Given the description of an element on the screen output the (x, y) to click on. 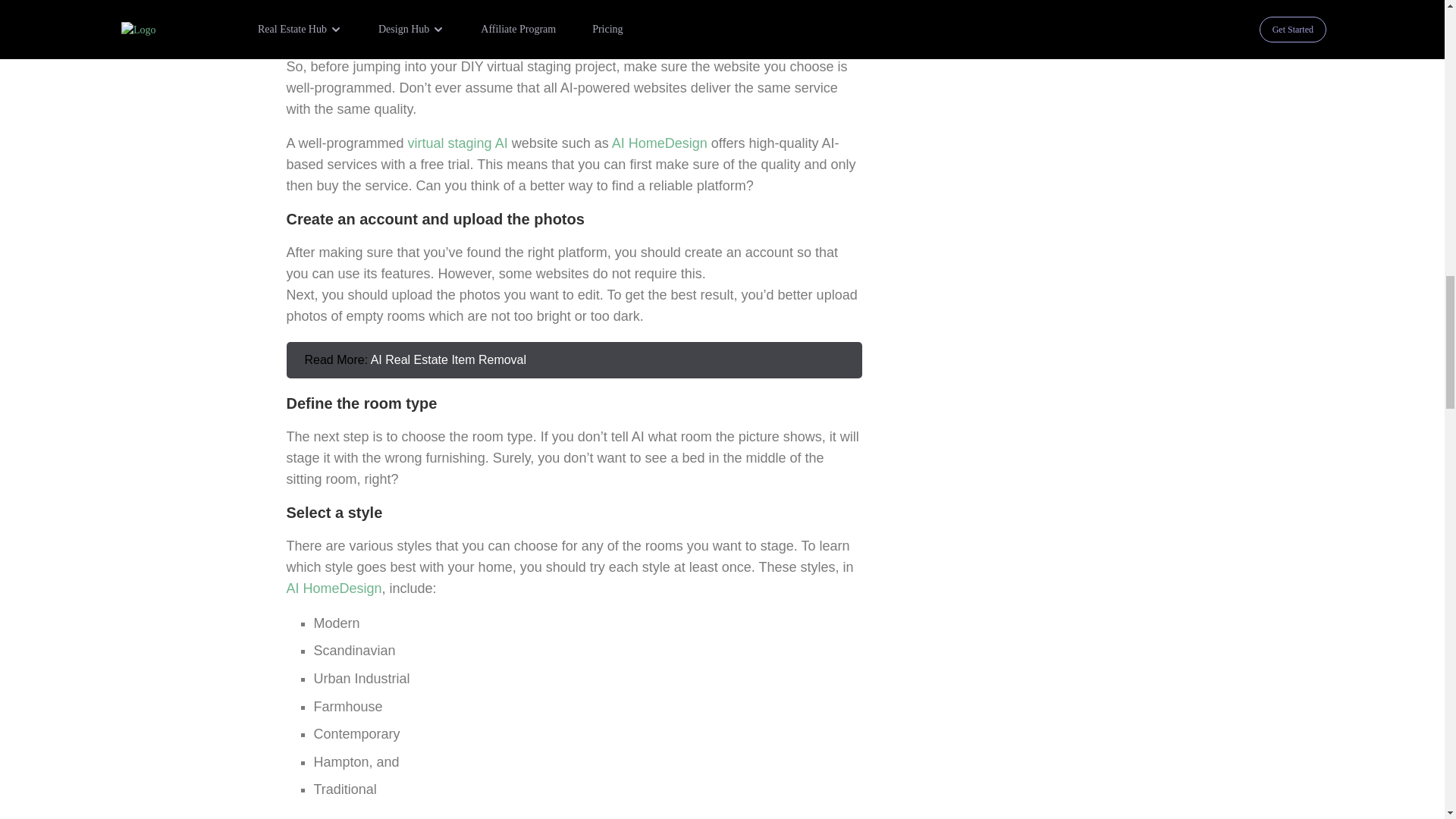
AI HomeDesign (659, 142)
virtual staging AI (457, 142)
